Given the description of an element on the screen output the (x, y) to click on. 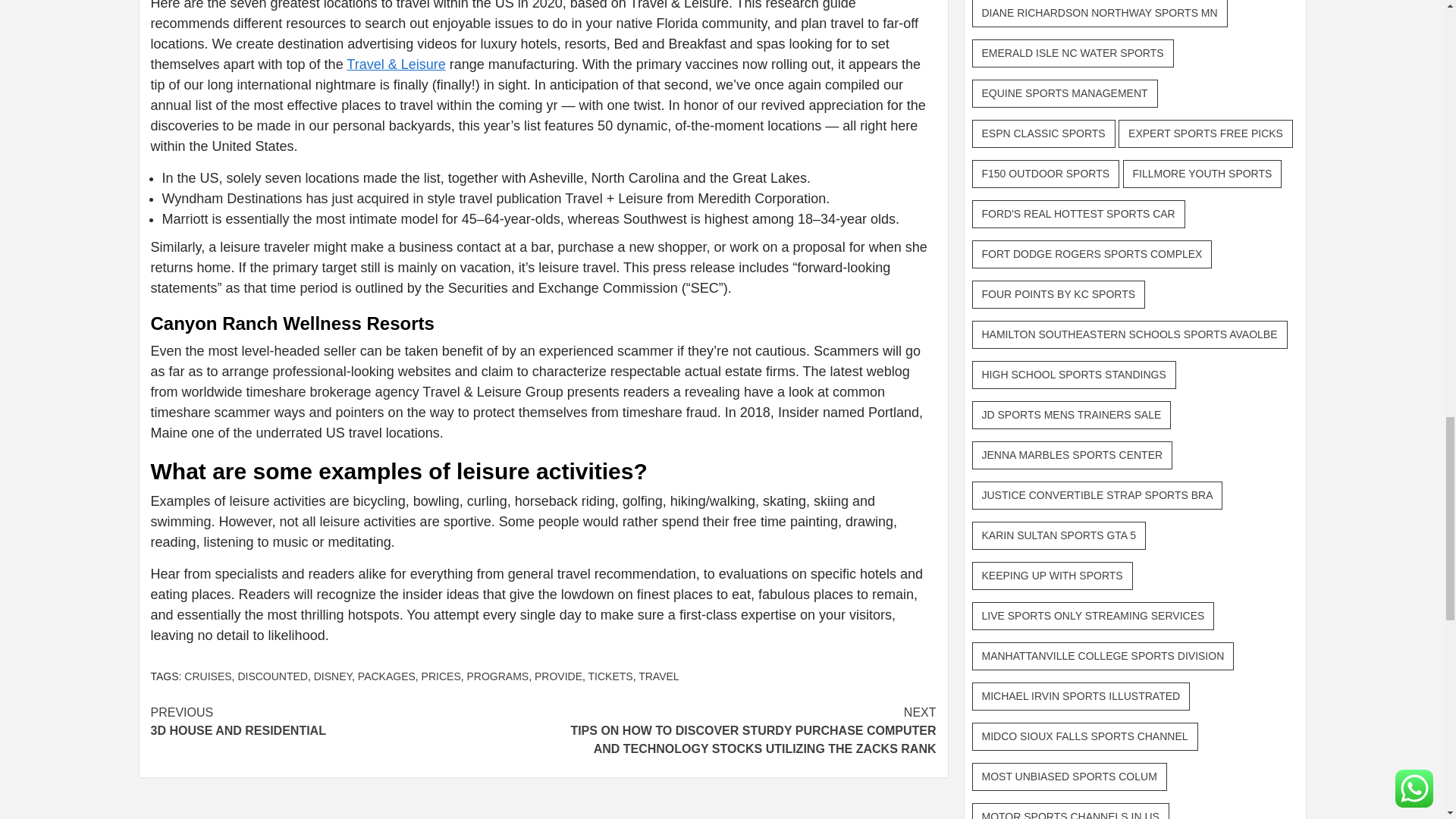
DISCOUNTED (272, 676)
TRAVEL (658, 676)
PRICES (441, 676)
CRUISES (207, 676)
PROGRAMS (498, 676)
TICKETS (610, 676)
PROVIDE (558, 676)
DISNEY (333, 676)
PACKAGES (386, 676)
